Given the description of an element on the screen output the (x, y) to click on. 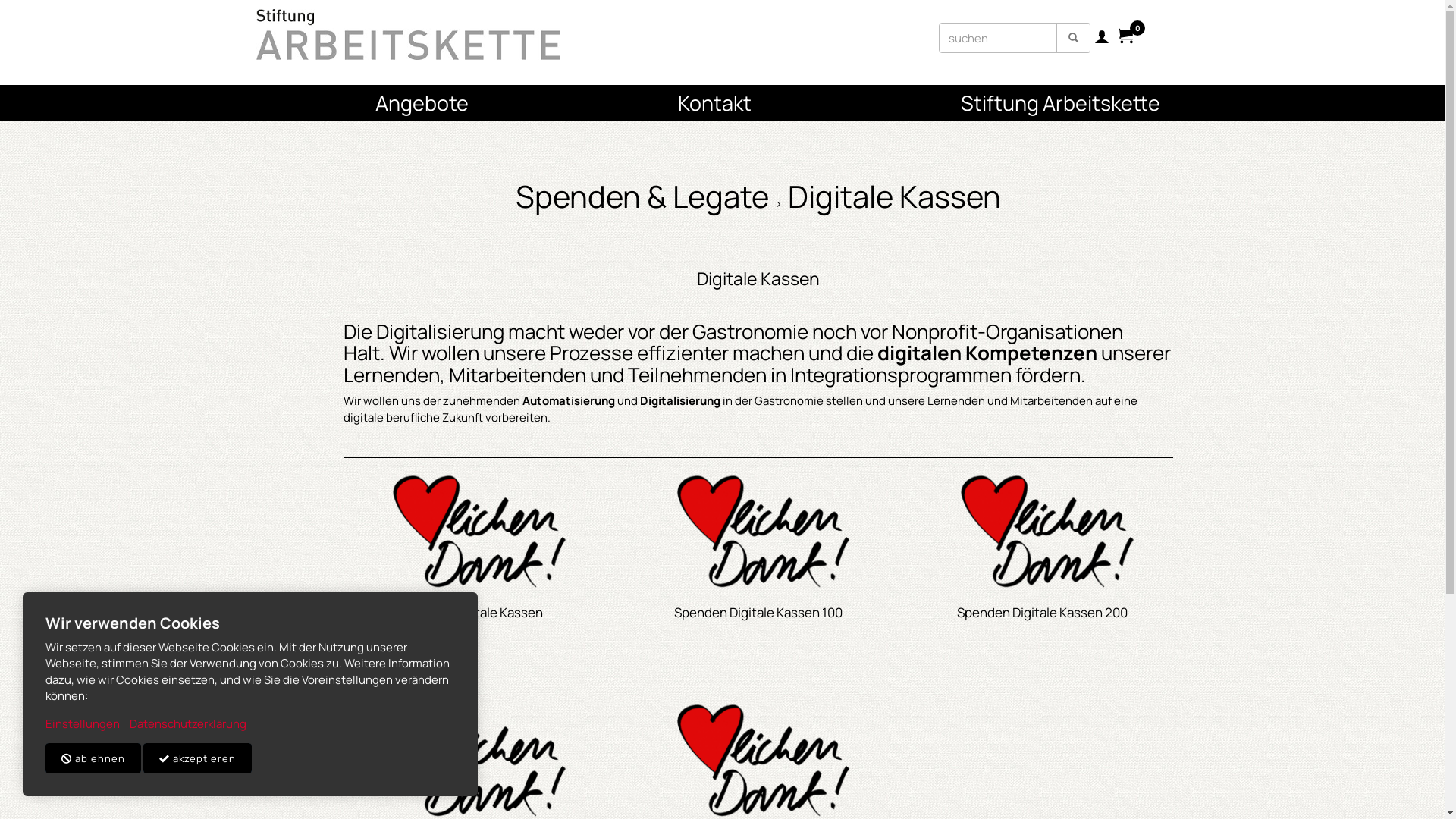
Spenden Digitale Kassen 200 Element type: text (1042, 612)
Stiftung Arbeitskette Element type: text (1191, 102)
Kontakt Element type: text (714, 102)
Digitale Kassen Element type: text (894, 195)
0 Element type: text (1125, 37)
Spende Digitale Kassen Element type: text (473, 612)
Spenden Digitale Kassen 100 Element type: text (758, 612)
akzeptieren Element type: text (197, 758)
ablehnen Element type: text (93, 758)
Digitale Kassen Element type: text (757, 278)
Spenden & Legate Element type: text (641, 195)
Einstellungen Element type: text (82, 723)
Angebote Element type: text (238, 102)
